Given the description of an element on the screen output the (x, y) to click on. 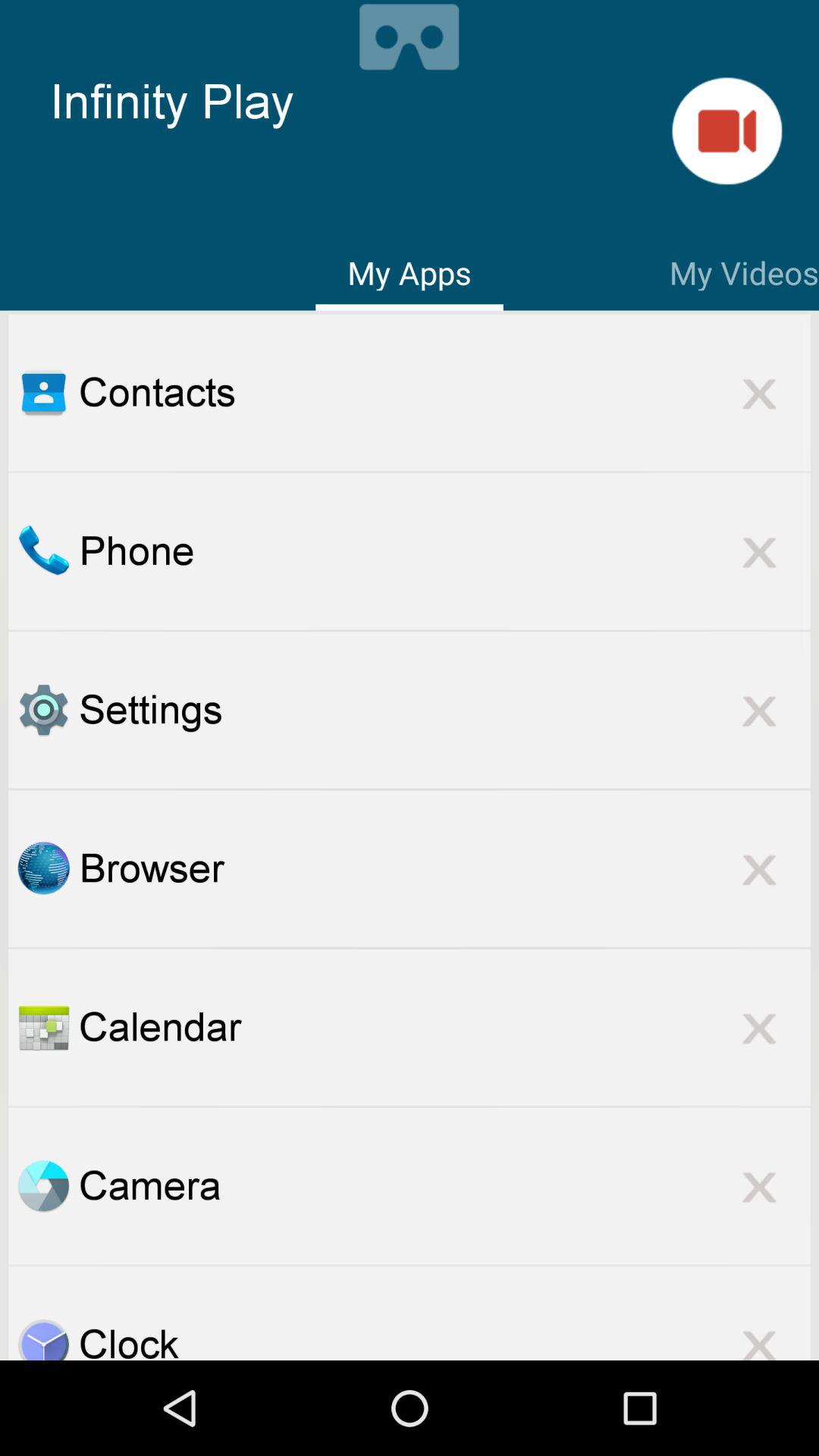
go do geamare (726, 130)
